Given the description of an element on the screen output the (x, y) to click on. 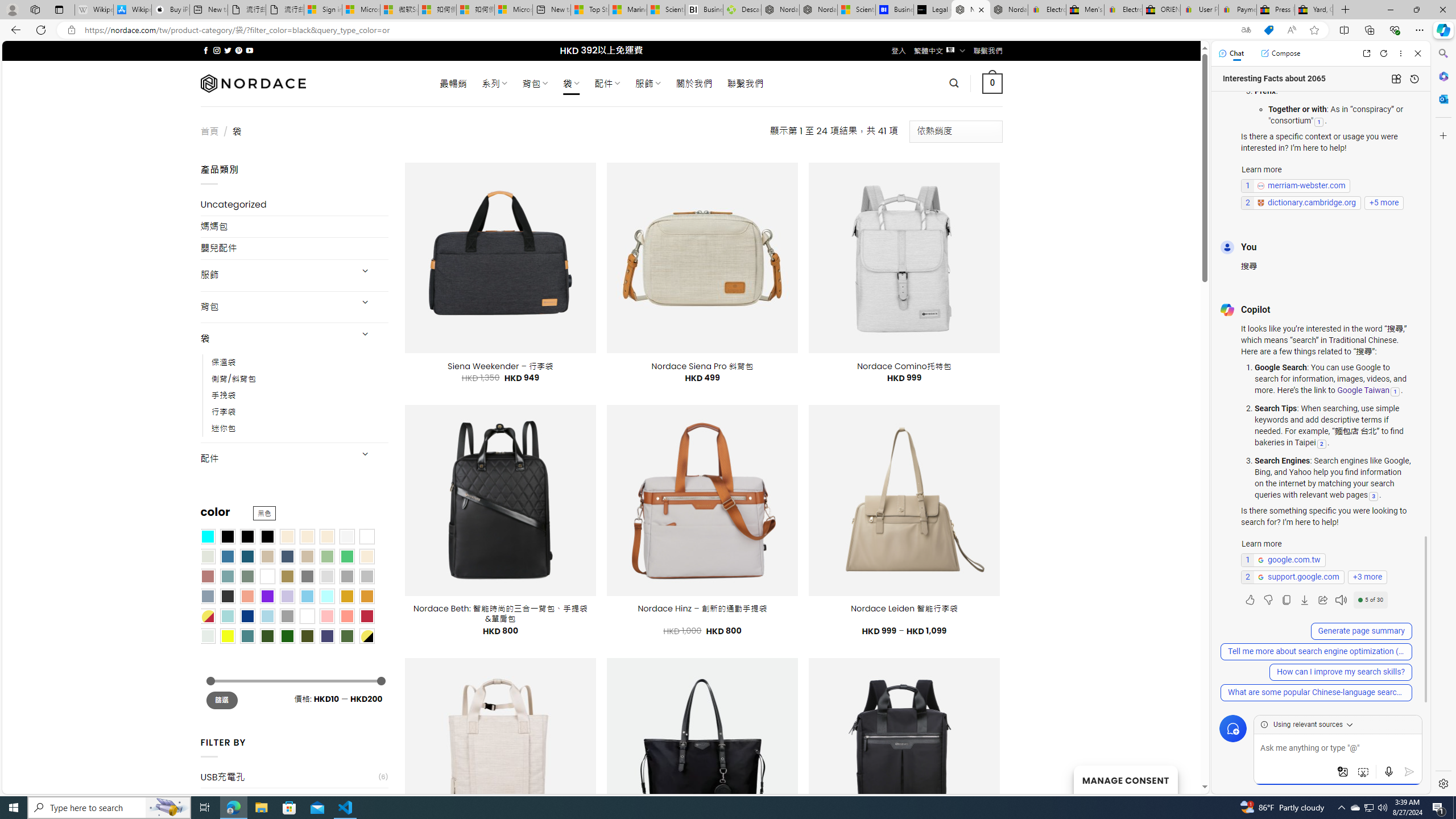
Yard, Garden & Outdoor Living (1314, 9)
Nordace - Summer Adventures 2024 (780, 9)
Compose (1280, 52)
